Given the description of an element on the screen output the (x, y) to click on. 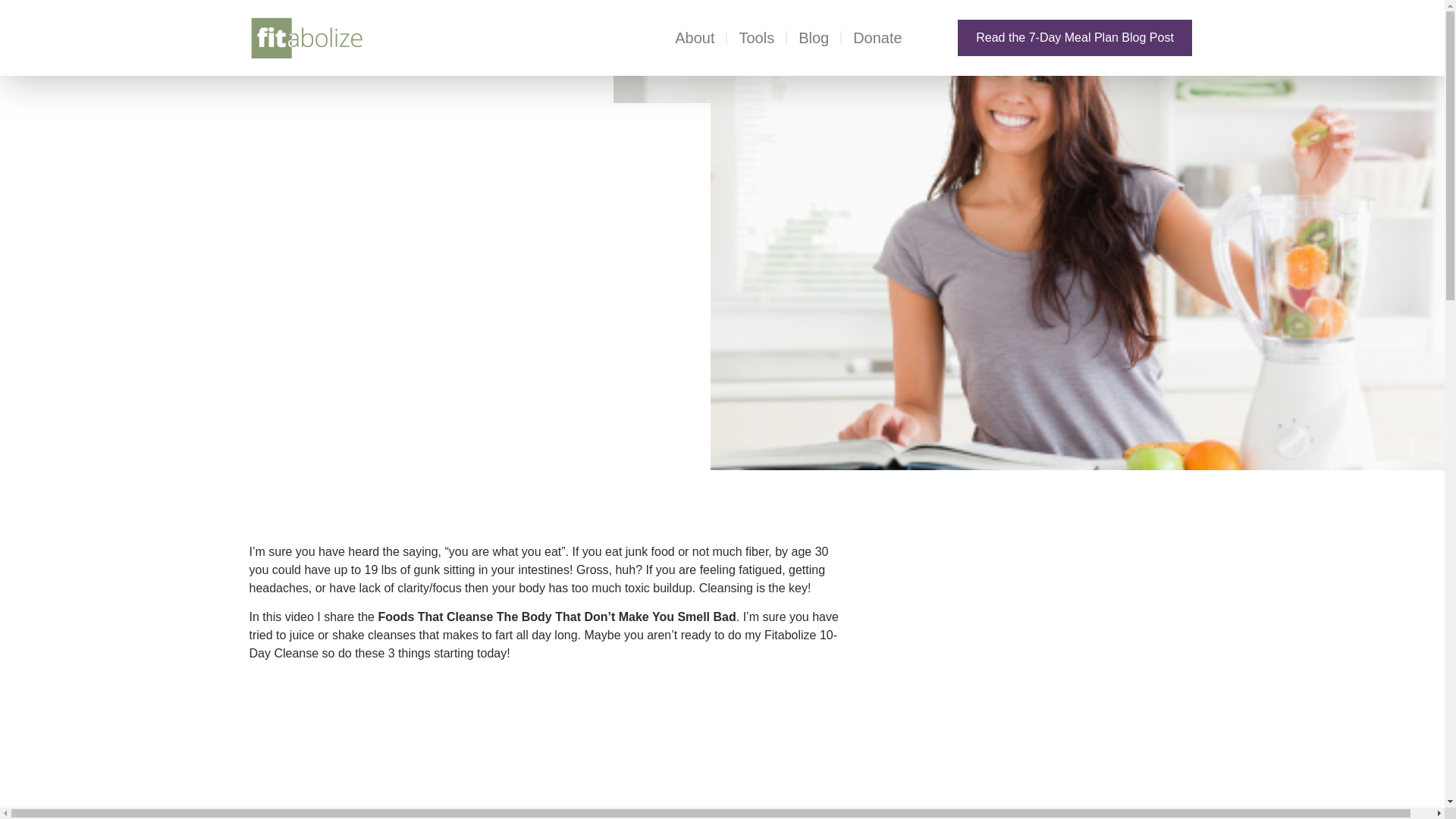
Donate (877, 37)
Tools (756, 37)
Foods That Cleanse The Body That Don't Make You Smell Bad (547, 746)
Read the 7-Day Meal Plan Blog Post (1075, 37)
About (694, 37)
